Given the description of an element on the screen output the (x, y) to click on. 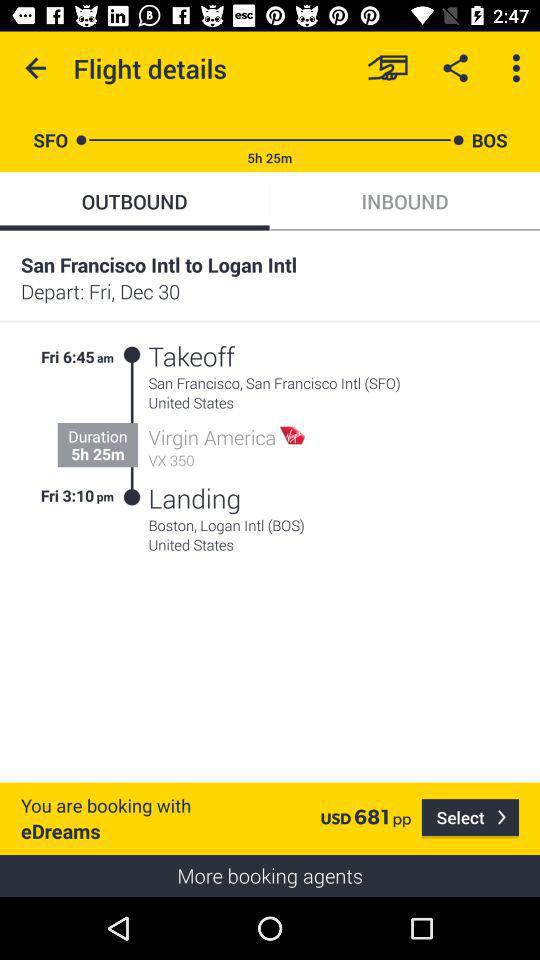
open item below the united states icon (470, 818)
